Given the description of an element on the screen output the (x, y) to click on. 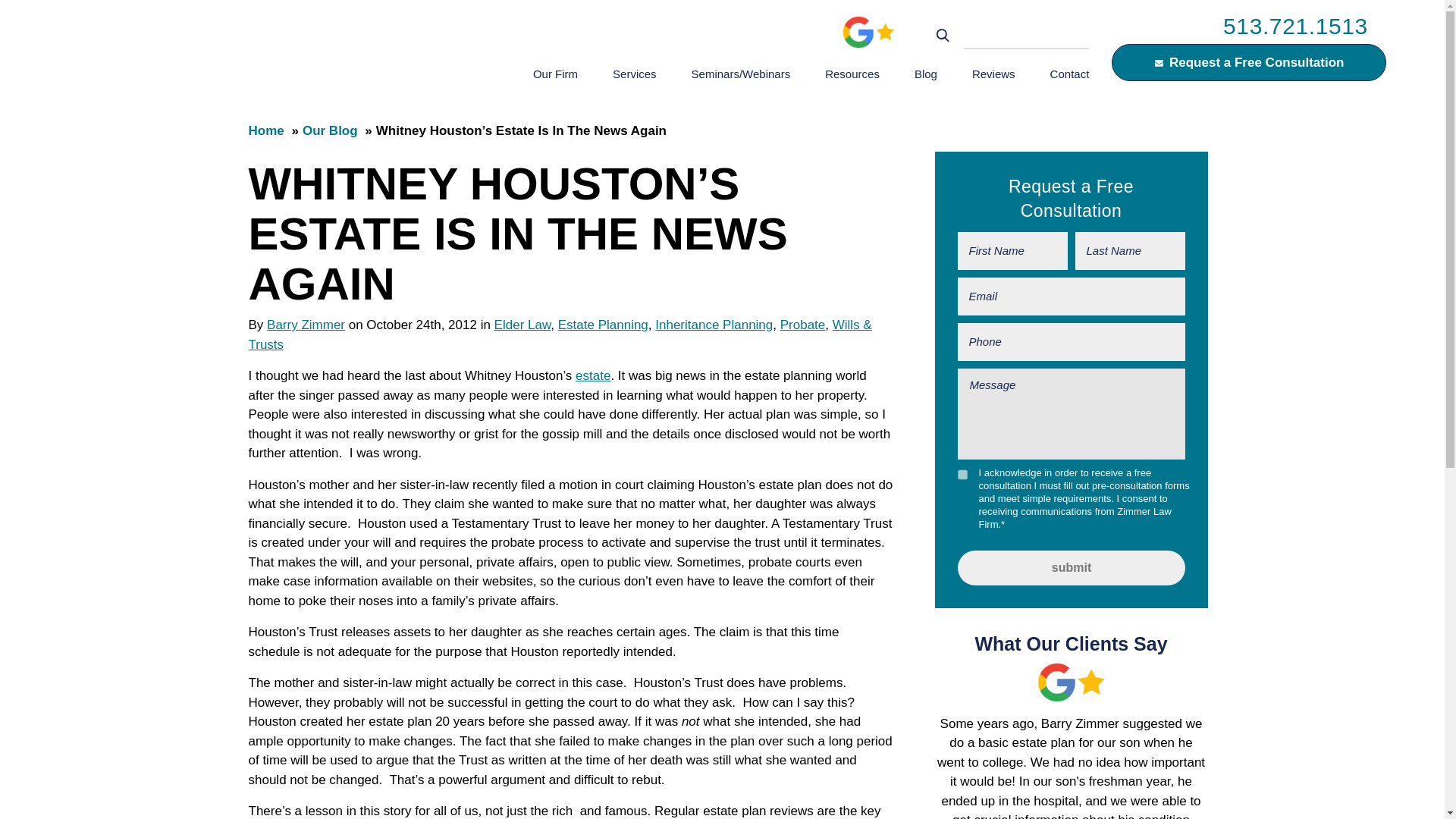
Search (943, 35)
Search (943, 35)
Posts by Barry Zimmer (305, 324)
Cincinnati Estate Plans (592, 375)
1 (961, 474)
submit (1070, 567)
